Given the description of an element on the screen output the (x, y) to click on. 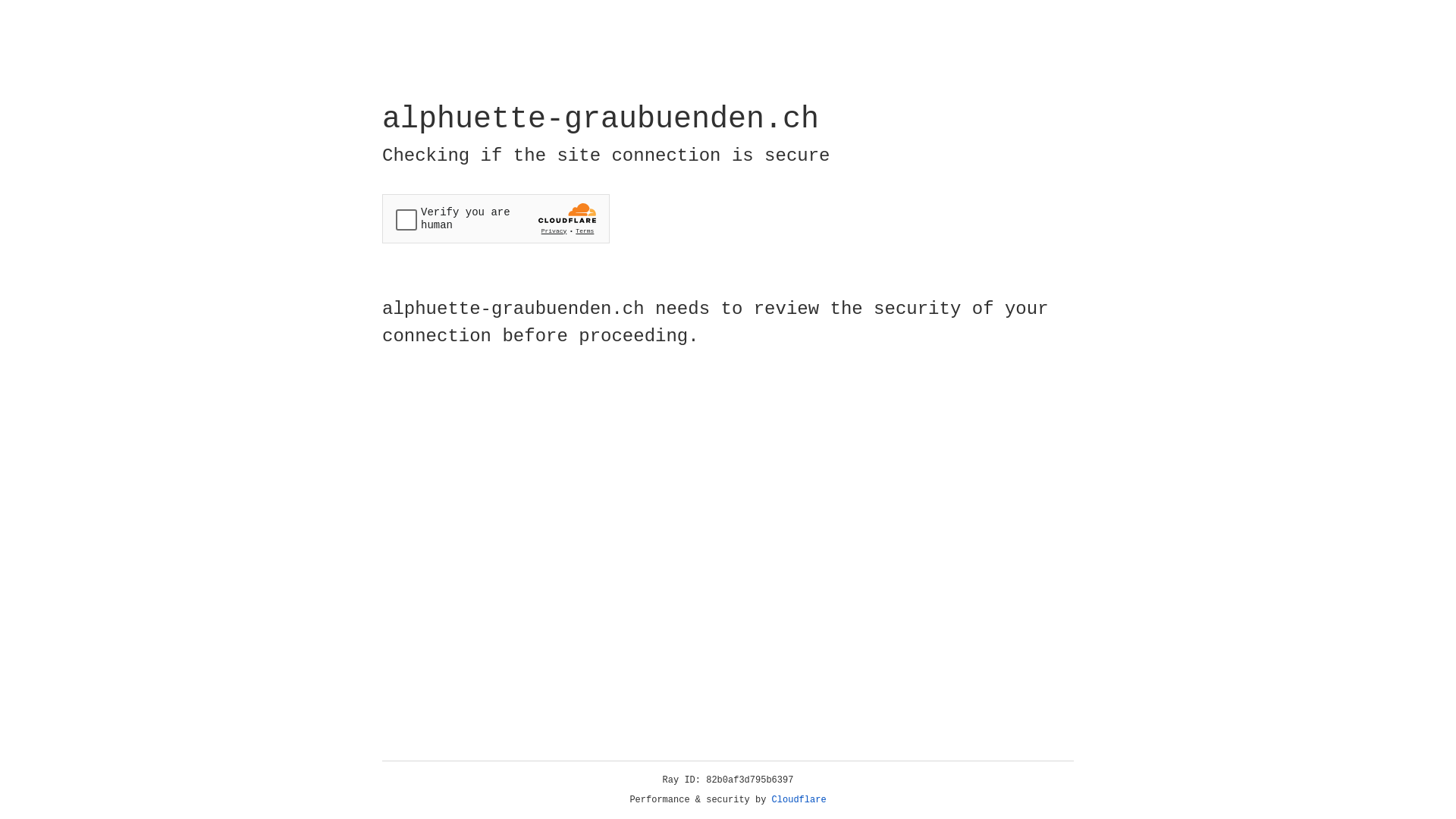
Widget containing a Cloudflare security challenge Element type: hover (495, 218)
Cloudflare Element type: text (798, 799)
